Given the description of an element on the screen output the (x, y) to click on. 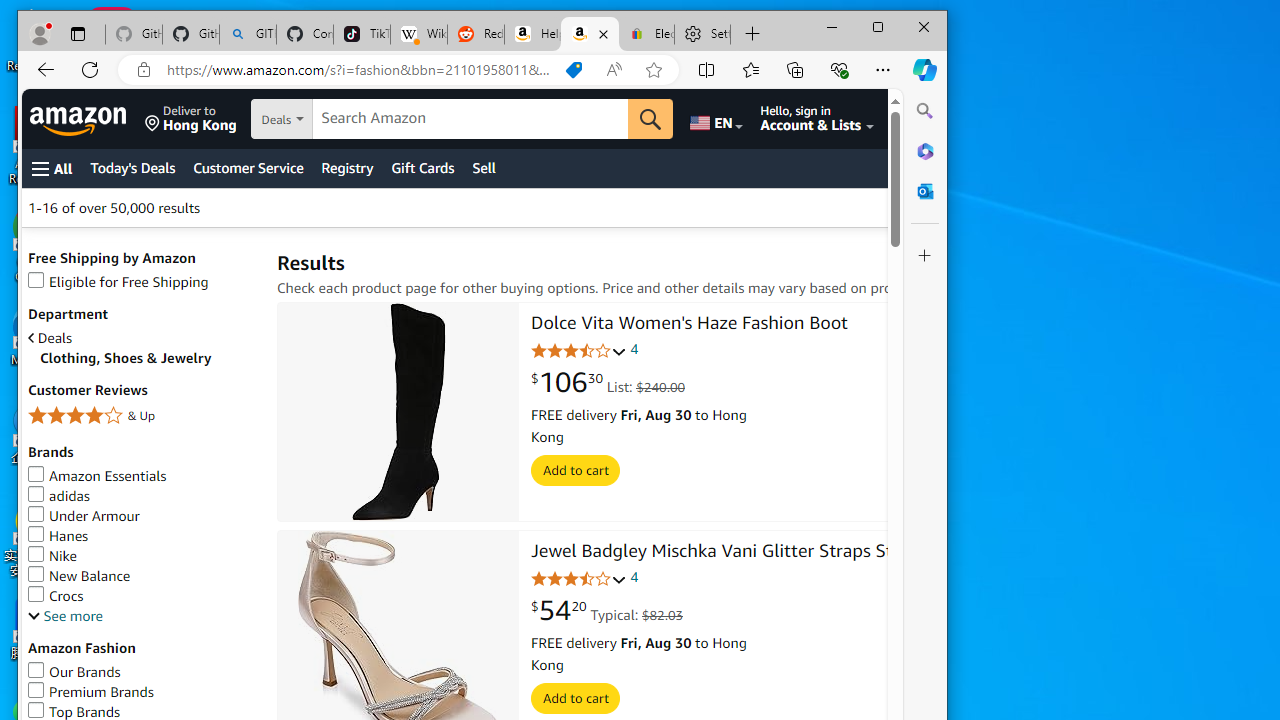
Go (651, 118)
Eligible for Free Shipping (118, 282)
4 Stars & Up& Up (142, 417)
Wikipedia, the free encyclopedia (418, 34)
New Balance (142, 576)
Amazon.com (589, 34)
Eligible for Free Shipping (142, 282)
Nike (142, 556)
New Balance (79, 575)
